Given the description of an element on the screen output the (x, y) to click on. 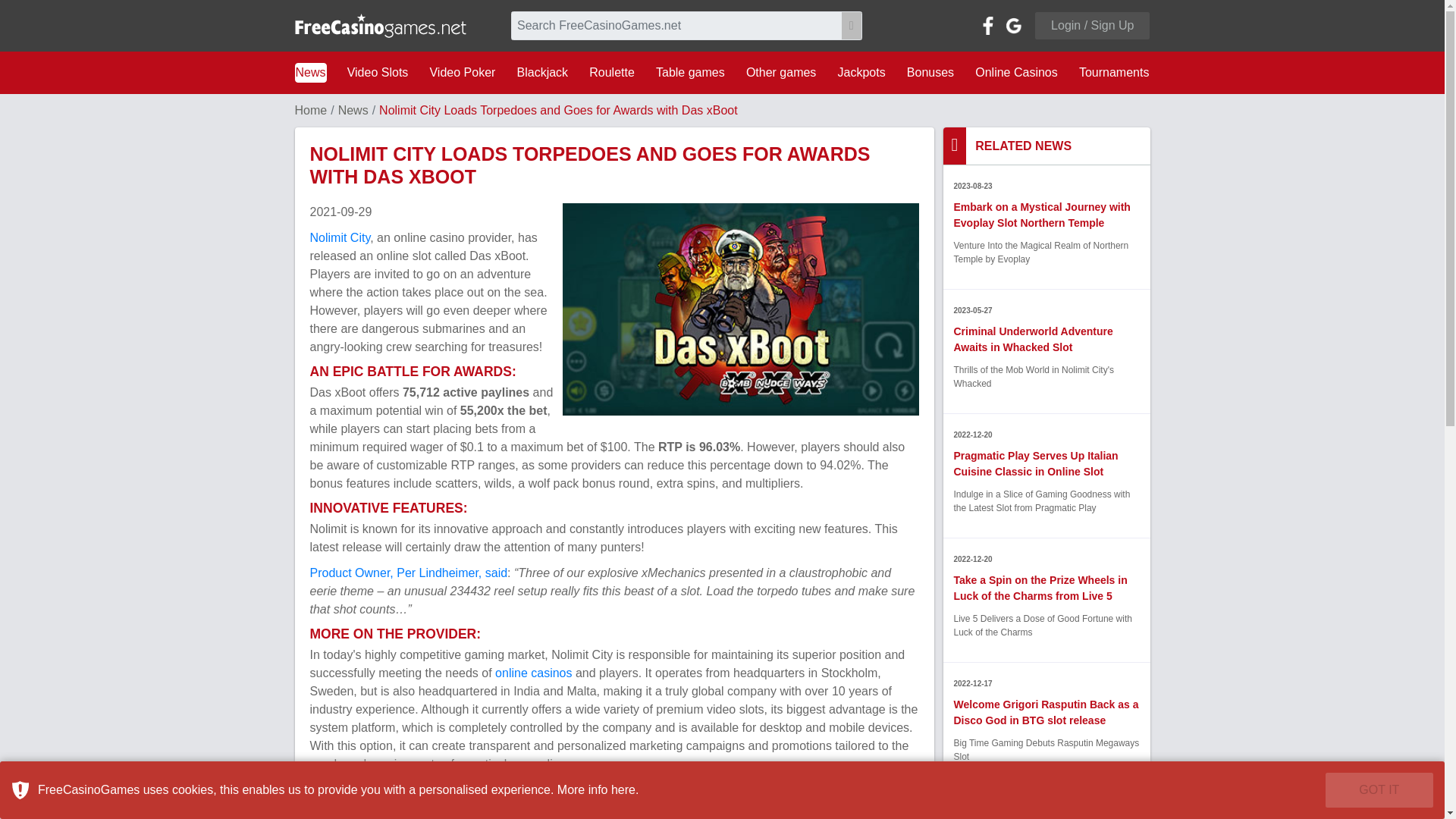
Online Casinos (1016, 72)
Other games (780, 72)
Video Poker (462, 72)
Home (310, 110)
Jackpots (861, 72)
Table games (690, 72)
Video Slots (377, 72)
Roulette (611, 72)
Bonuses (930, 72)
News (310, 72)
Tournaments (1114, 72)
Blackjack (542, 72)
